Given the description of an element on the screen output the (x, y) to click on. 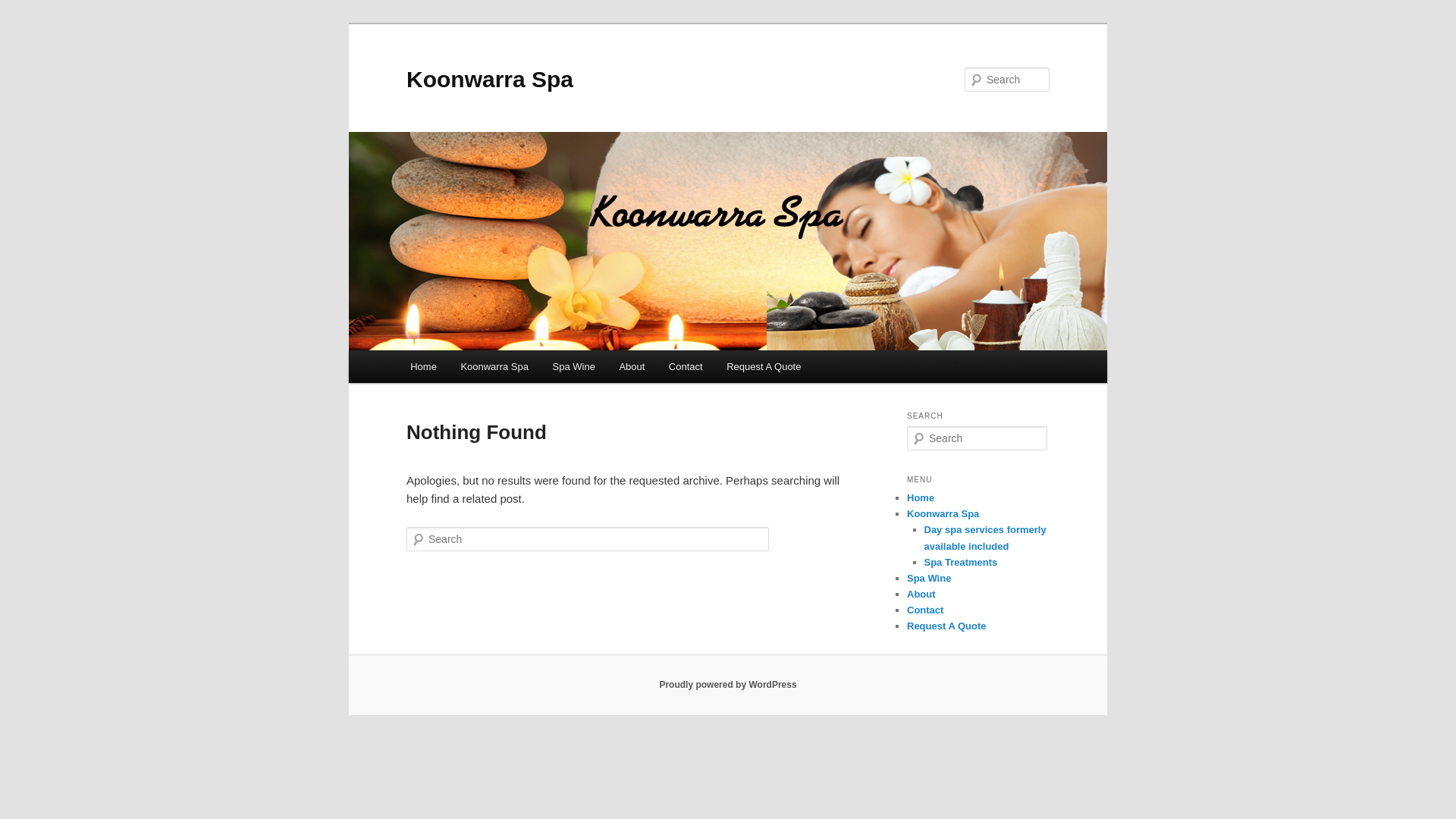
Search Element type: text (24, 8)
Search Element type: text (20, 10)
Home Element type: text (920, 497)
About Element type: text (631, 366)
Koonwarra Spa Element type: text (942, 513)
Contact Element type: text (685, 366)
Proudly powered by WordPress Element type: text (727, 684)
Spa Treatments Element type: text (960, 561)
Home Element type: text (423, 366)
Skip to primary content Element type: text (22, 22)
Koonwarra Spa Element type: text (494, 366)
Contact Element type: text (924, 609)
Spa Wine Element type: text (928, 577)
Spa Wine Element type: text (573, 366)
Koonwarra Spa Element type: text (489, 78)
Request A Quote Element type: text (763, 366)
About Element type: text (920, 593)
Day spa services formerly available included Element type: text (984, 537)
Request A Quote Element type: text (946, 625)
